Given the description of an element on the screen output the (x, y) to click on. 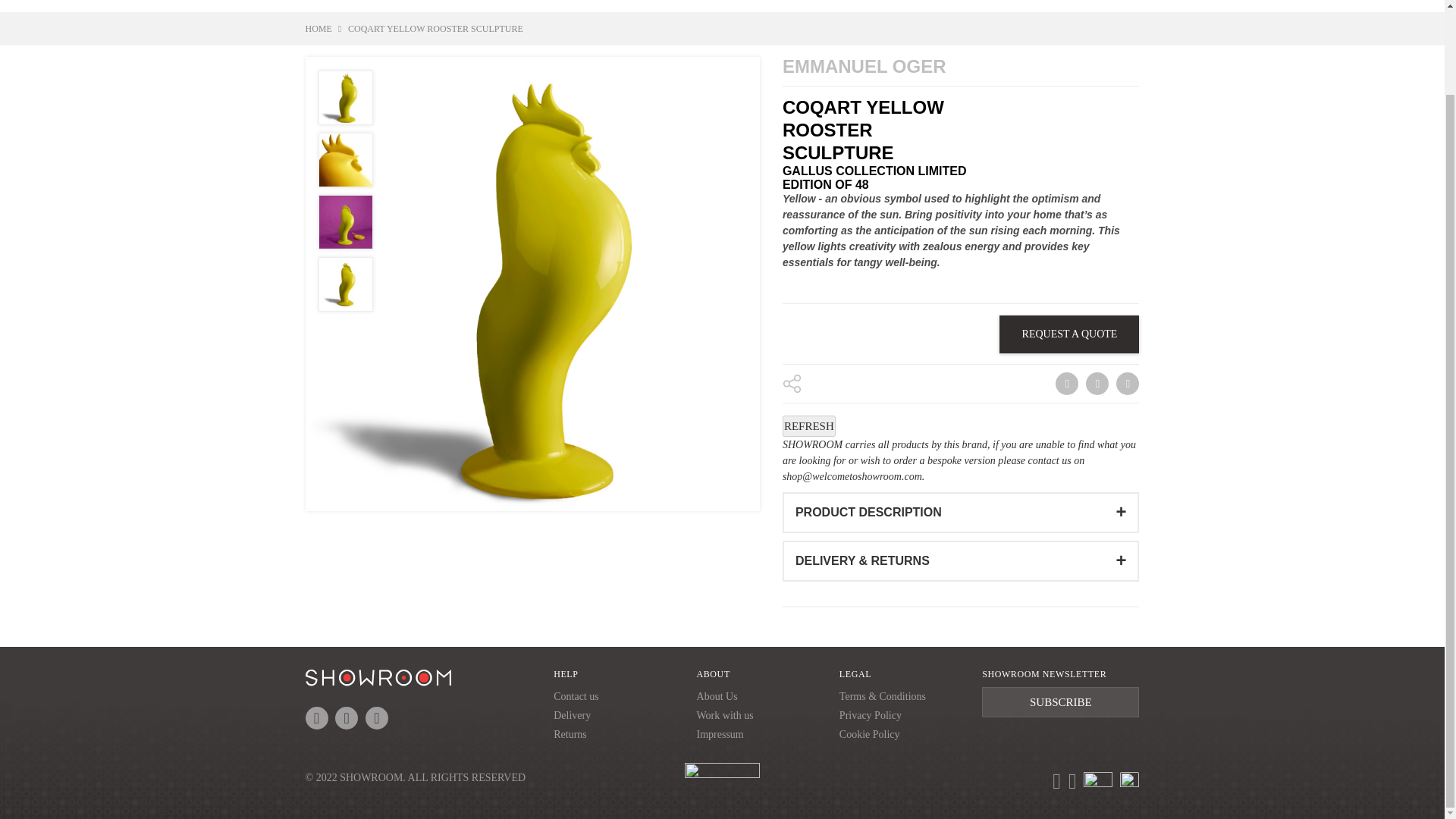
Refresh (809, 425)
Tweet (1096, 383)
Share (1065, 383)
Pinterest (1126, 383)
